Given the description of an element on the screen output the (x, y) to click on. 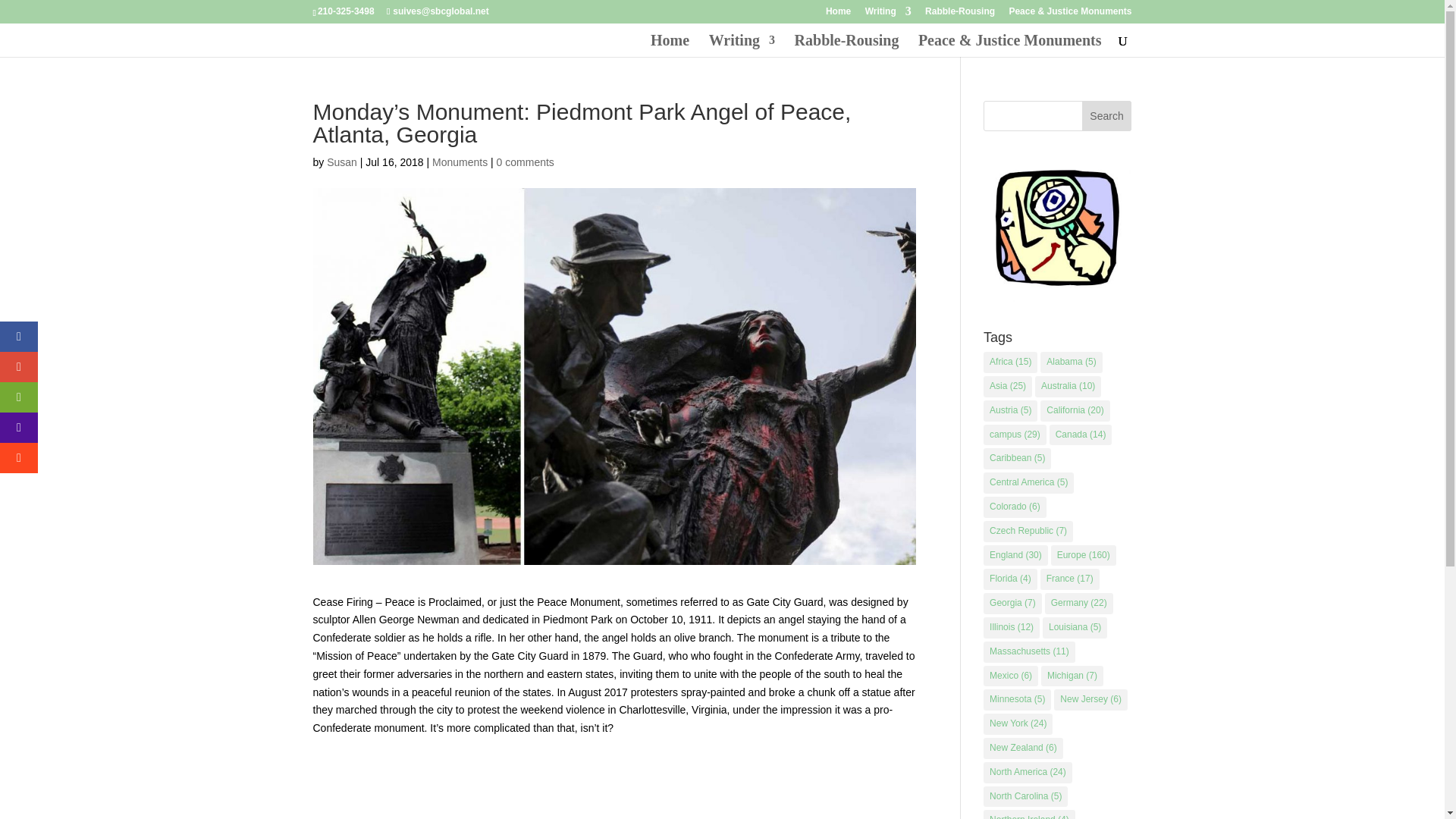
Rabble-Rousing (959, 14)
Rabble-Rousing (846, 45)
Writing (741, 45)
Writing (887, 14)
Susan (341, 162)
Home (669, 45)
0 comments (525, 162)
Monuments (459, 162)
Search (1106, 115)
Home (837, 14)
Posts by Susan (341, 162)
Search (1106, 115)
